Given the description of an element on the screen output the (x, y) to click on. 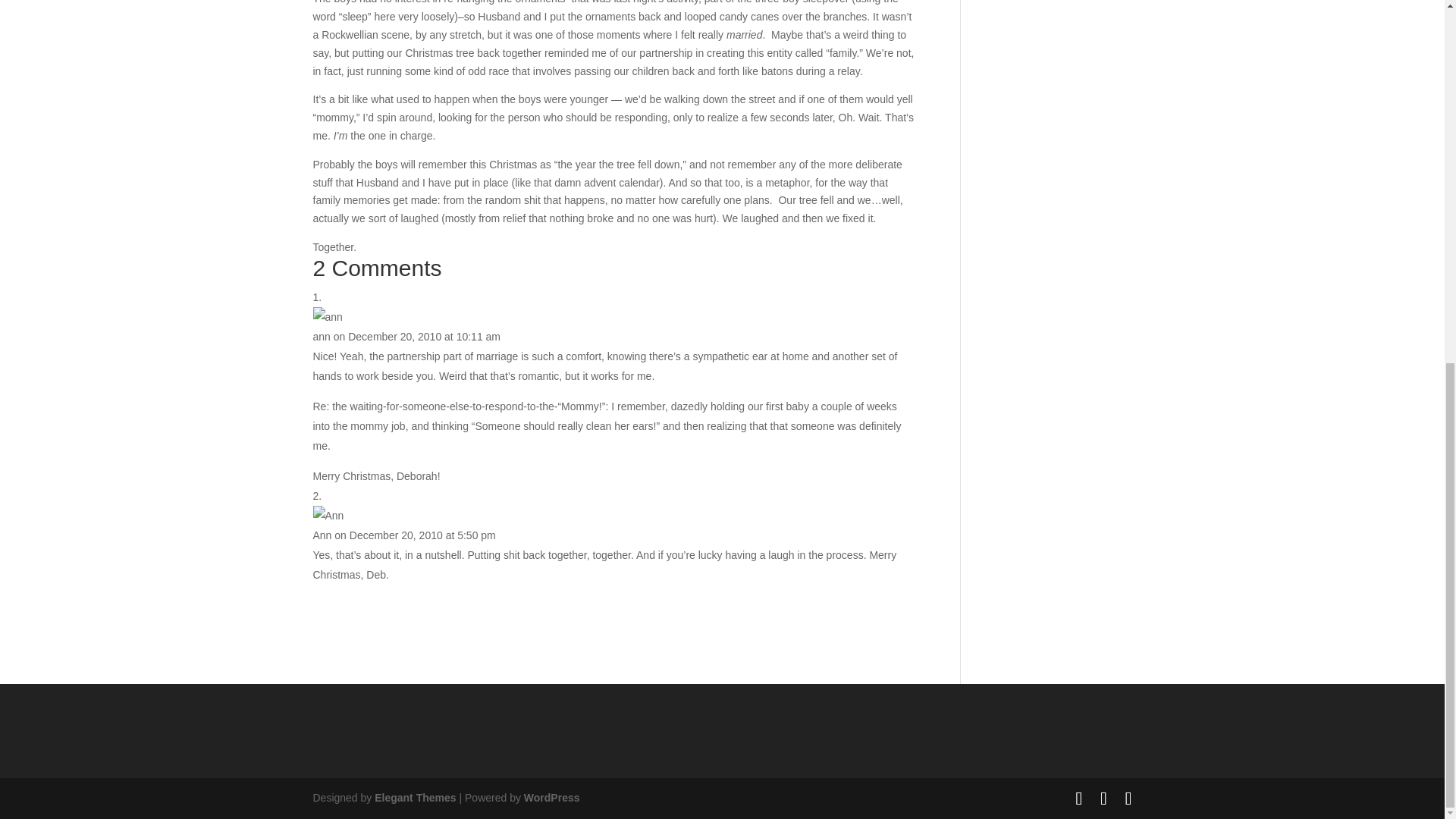
Premium WordPress Themes (414, 797)
Elegant Themes (414, 797)
WordPress (551, 797)
